Given the description of an element on the screen output the (x, y) to click on. 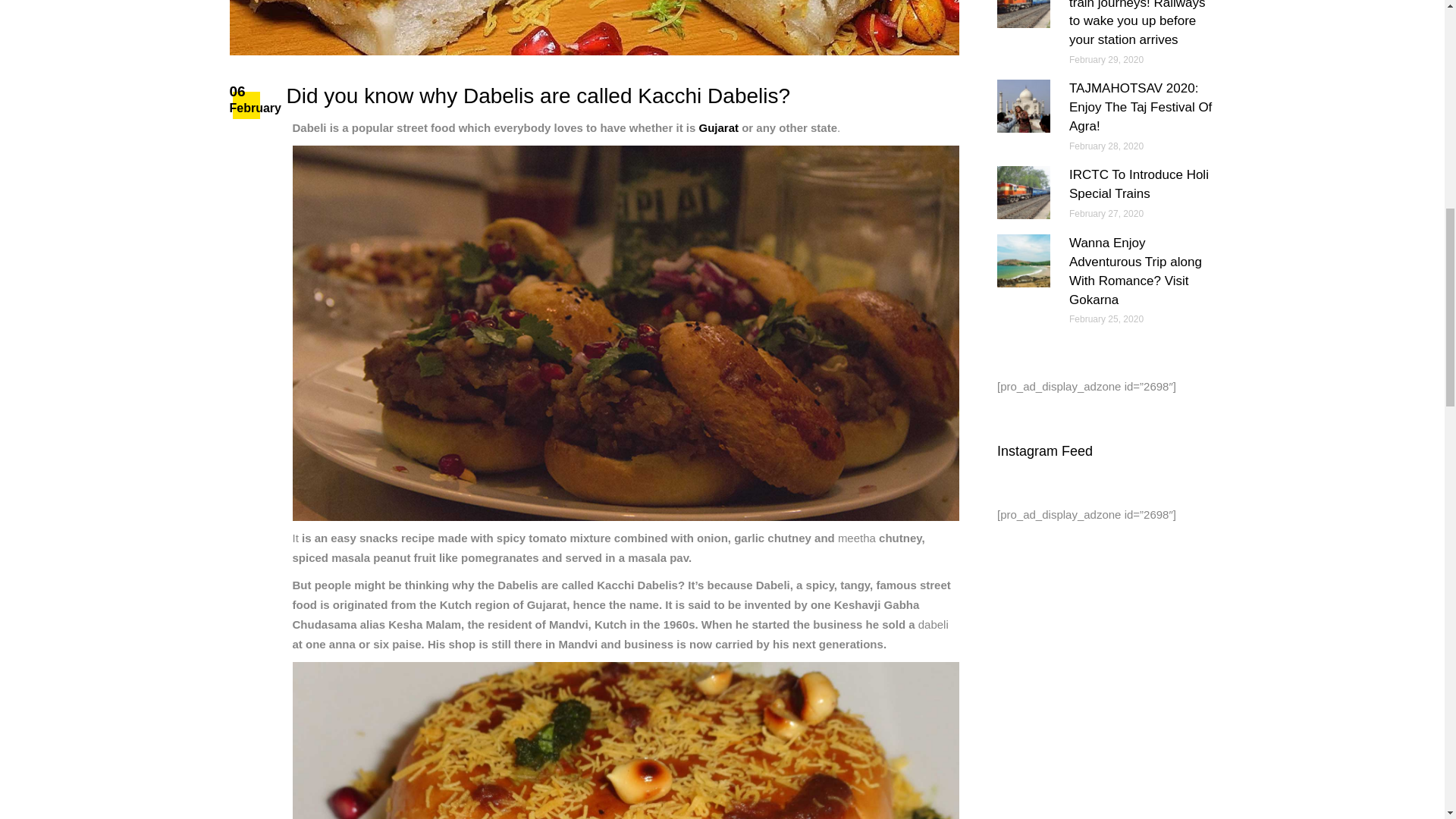
Gujarat (718, 127)
